Given the description of an element on the screen output the (x, y) to click on. 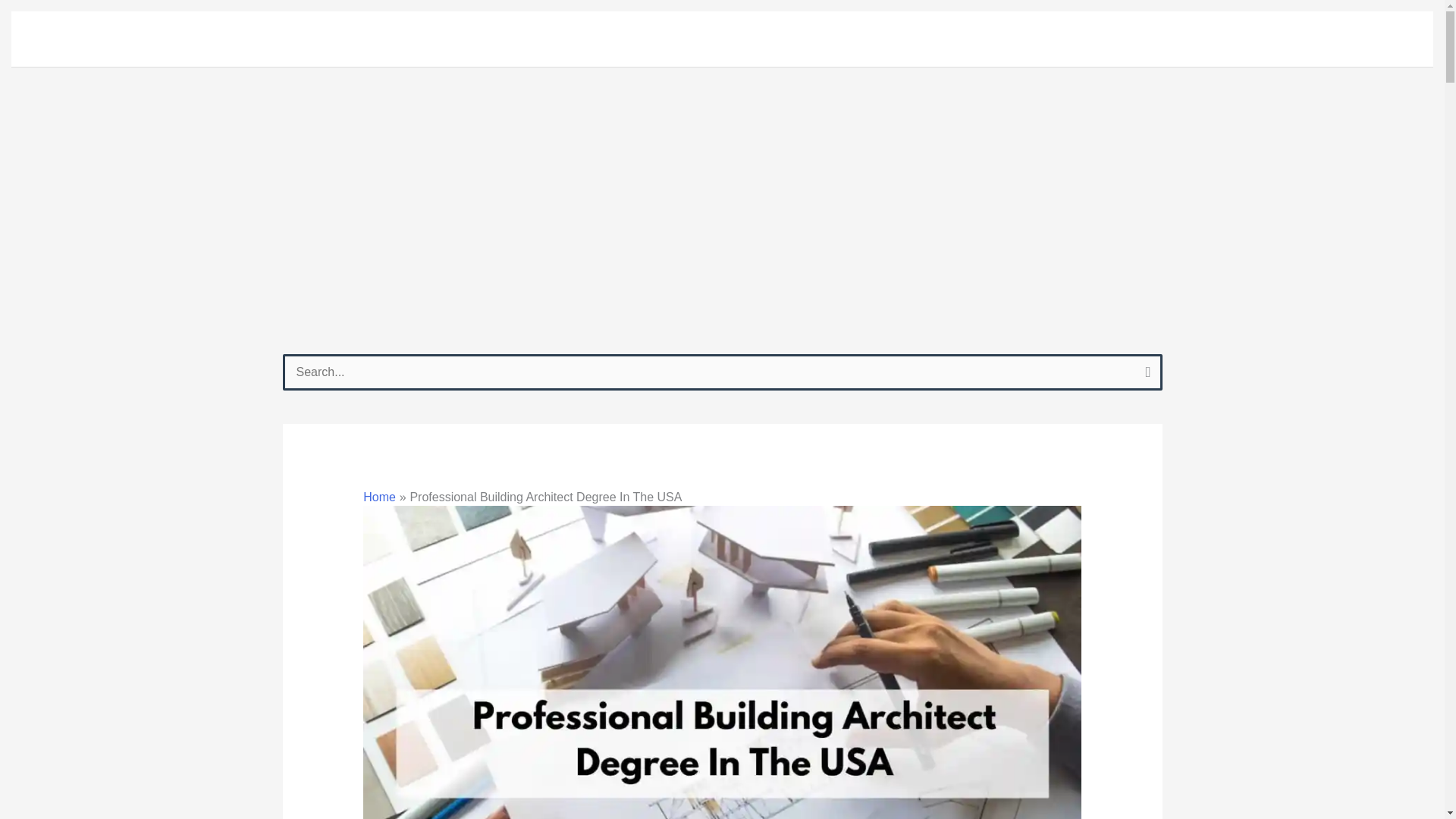
Home (878, 38)
Civil Engg (1073, 38)
House Plans (968, 38)
Civiconcepts (93, 38)
